Given the description of an element on the screen output the (x, y) to click on. 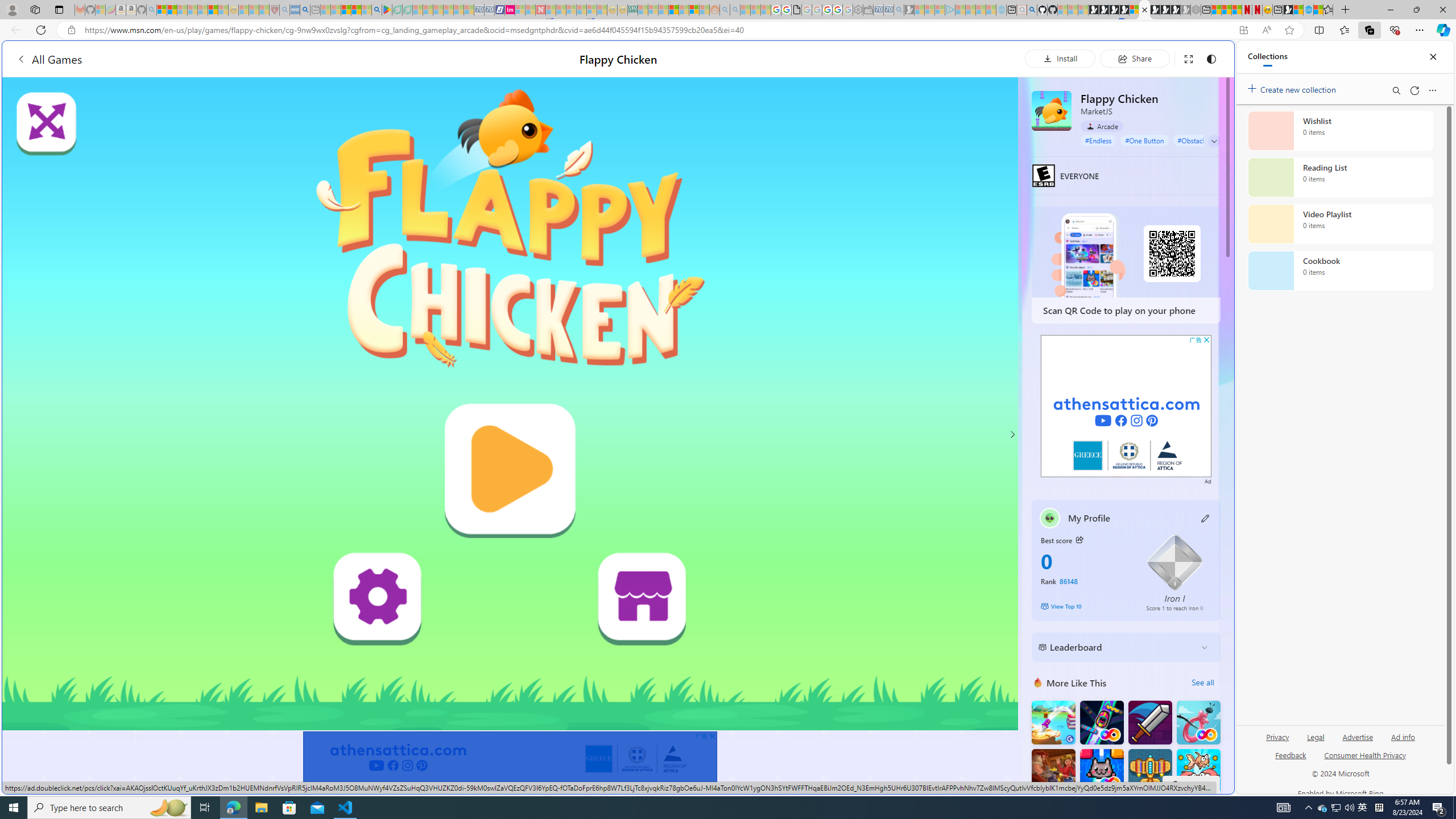
Expert Portfolios (673, 9)
Leaderboard (1116, 647)
Install (1060, 58)
Saloon Robbery (1053, 770)
Flappy Chicken (1051, 110)
